Given the description of an element on the screen output the (x, y) to click on. 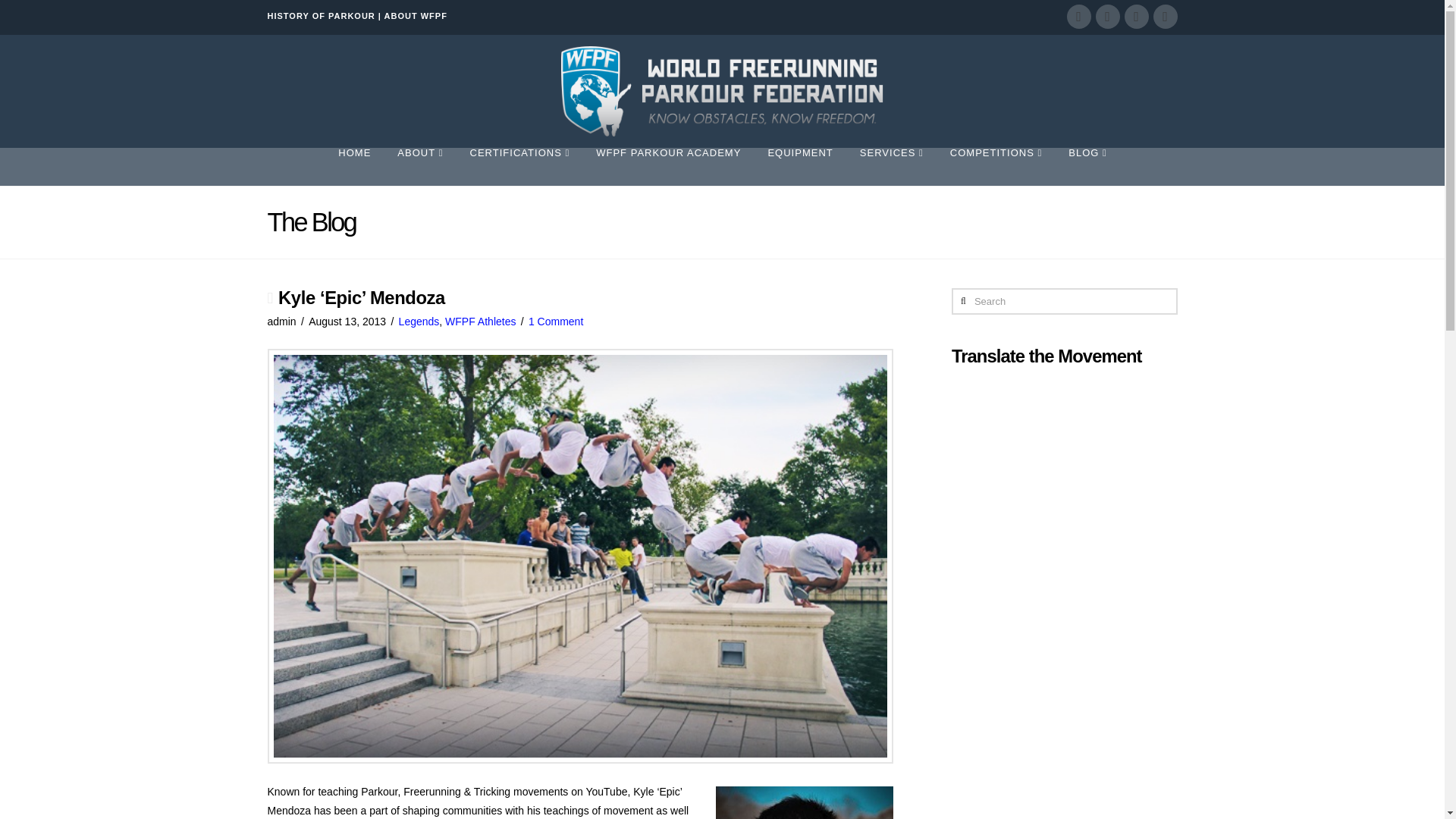
Facebook (1077, 16)
WFPF PARKOUR ACADEMY (668, 166)
BLOG (1086, 166)
YouTube (1136, 16)
Twitter (1106, 16)
SERVICES (890, 166)
EQUIPMENT (799, 166)
HOME (354, 166)
Representing the World of Parkour (721, 90)
ABOUT WFPF (415, 15)
